Given the description of an element on the screen output the (x, y) to click on. 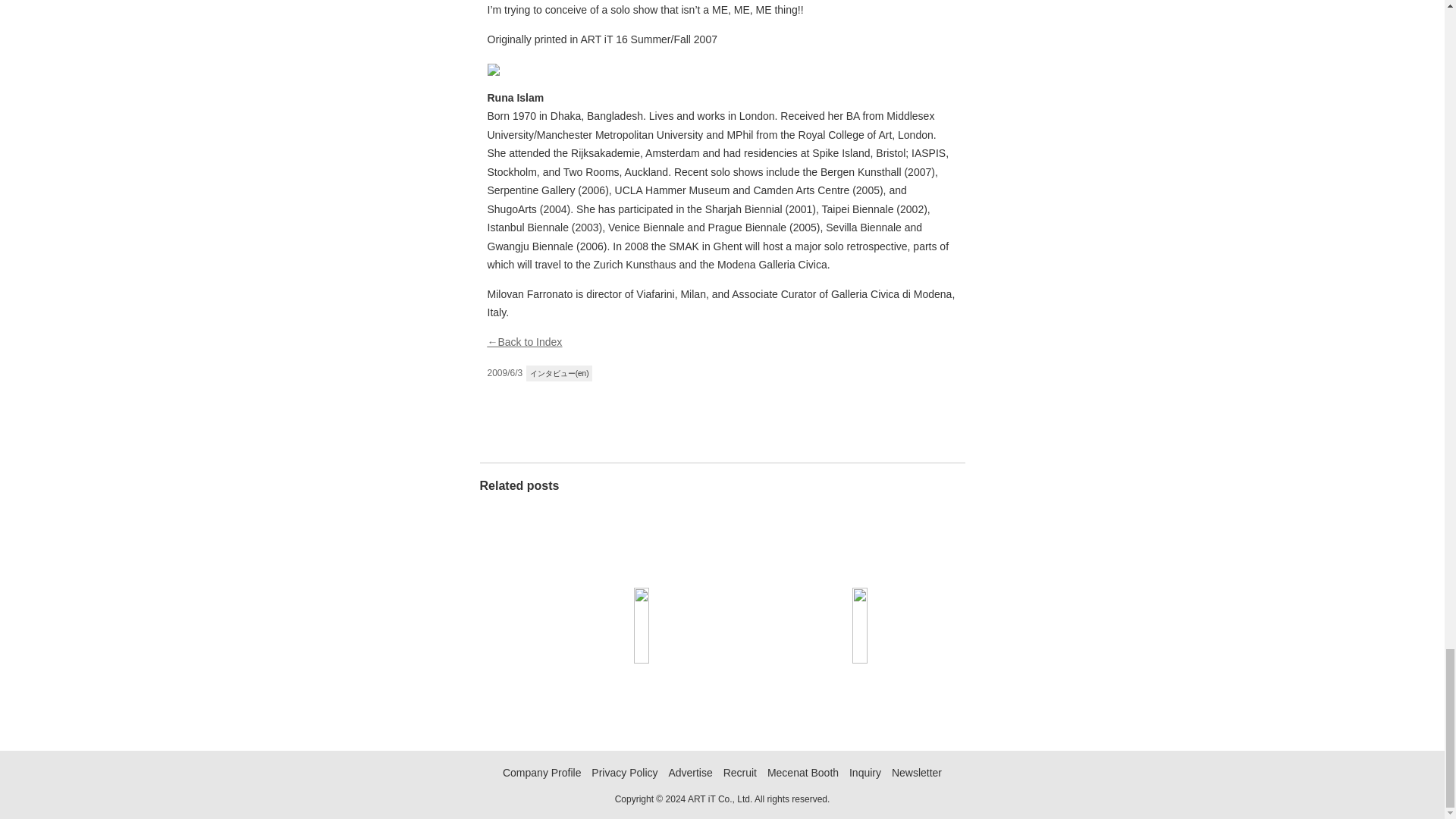
Privacy Policy (624, 772)
Advertise (689, 772)
Company Profile (541, 772)
Mecenat Booth (802, 772)
Recruit (740, 772)
Newsletter (916, 772)
Inquiry (864, 772)
